Given the description of an element on the screen output the (x, y) to click on. 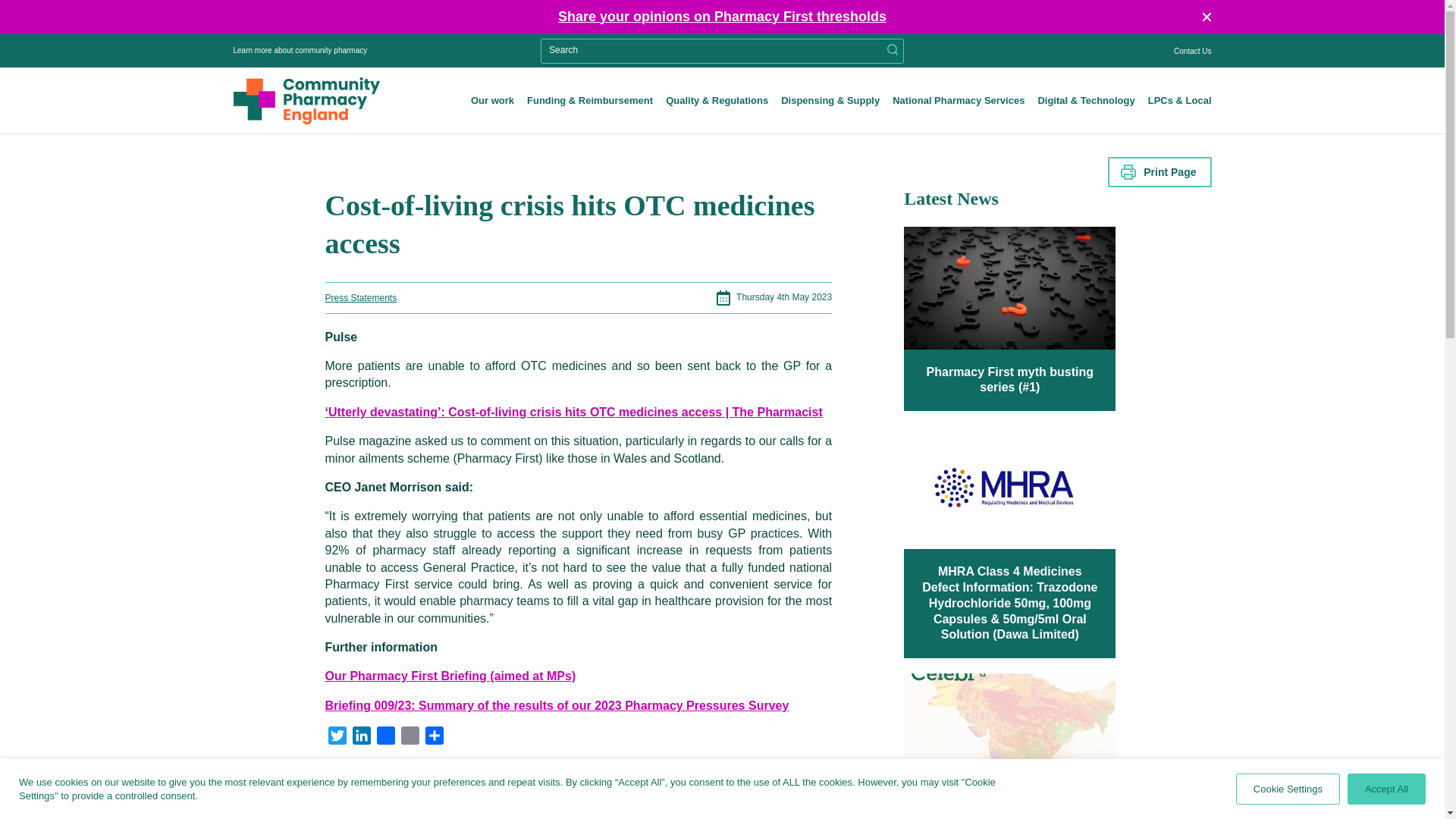
LinkedIn (360, 738)
Email (409, 738)
Print Page (1159, 172)
Contact Us (1192, 50)
Share your opinions on Pharmacy First thresholds (721, 17)
Facebook (384, 738)
Our work (491, 100)
Learn more about community pharmacy (346, 50)
Twitter (336, 738)
